Given the description of an element on the screen output the (x, y) to click on. 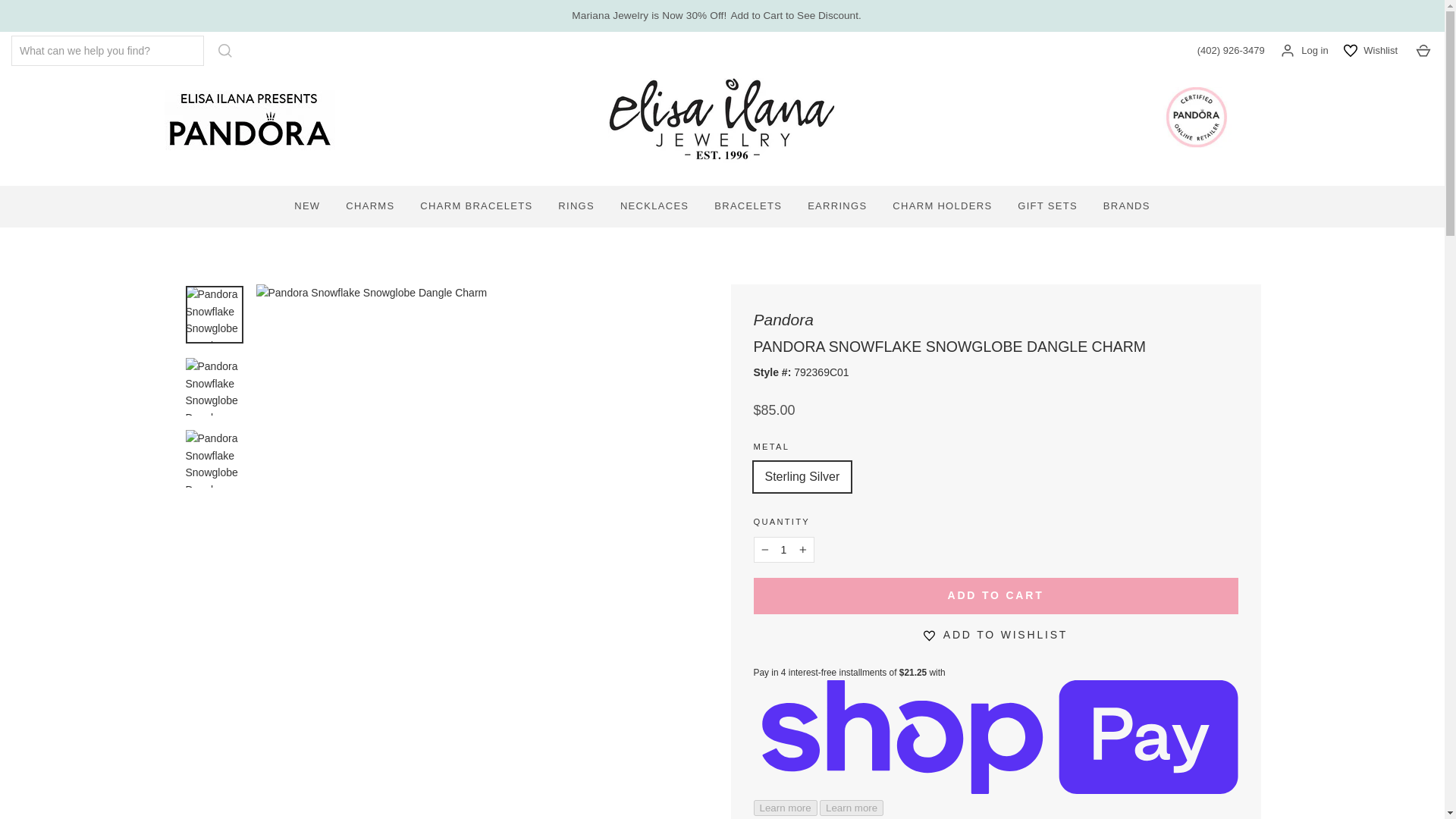
1 (783, 549)
Pandora (783, 319)
